Given the description of an element on the screen output the (x, y) to click on. 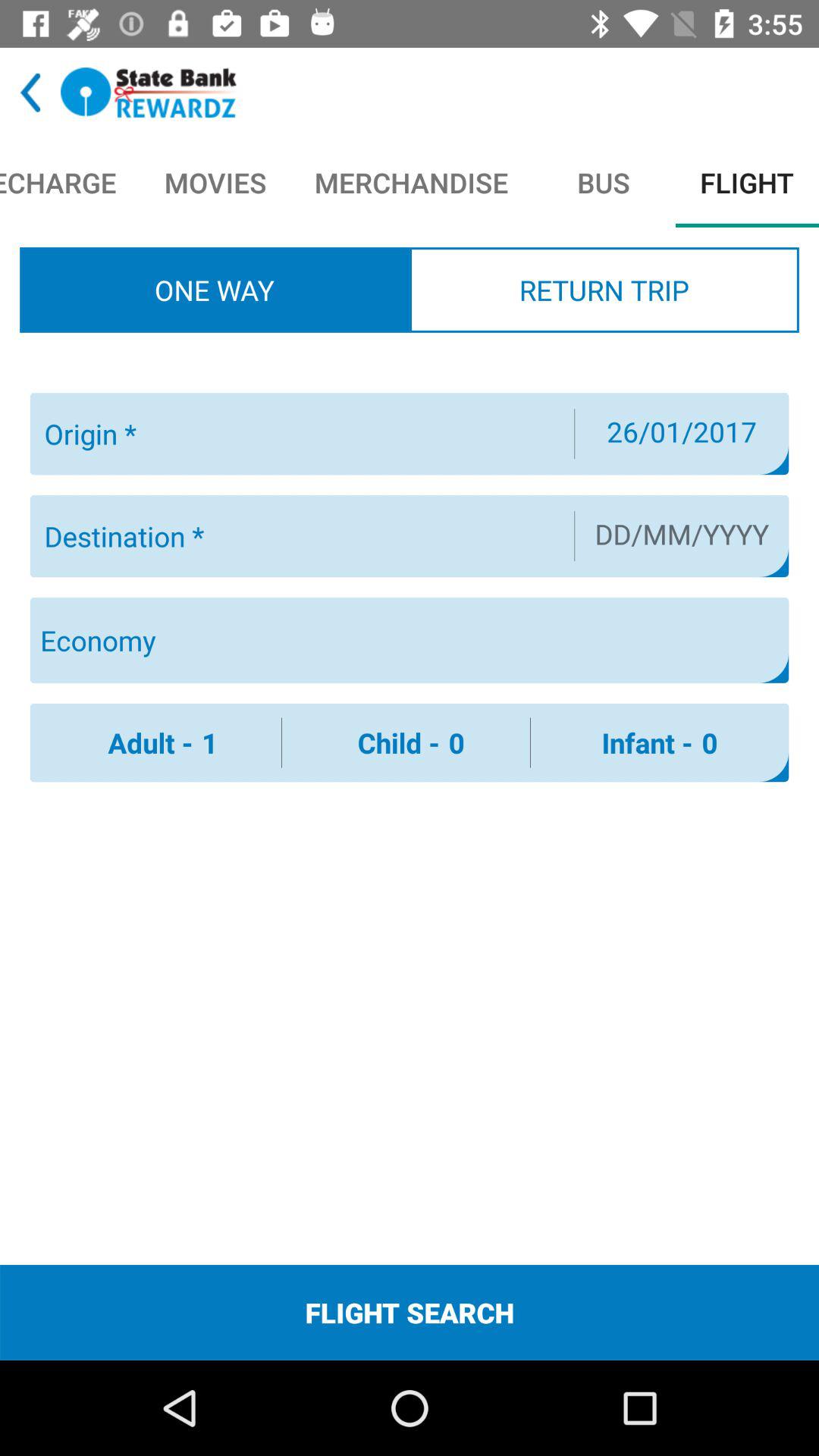
enter trip destination (300, 536)
